Given the description of an element on the screen output the (x, y) to click on. 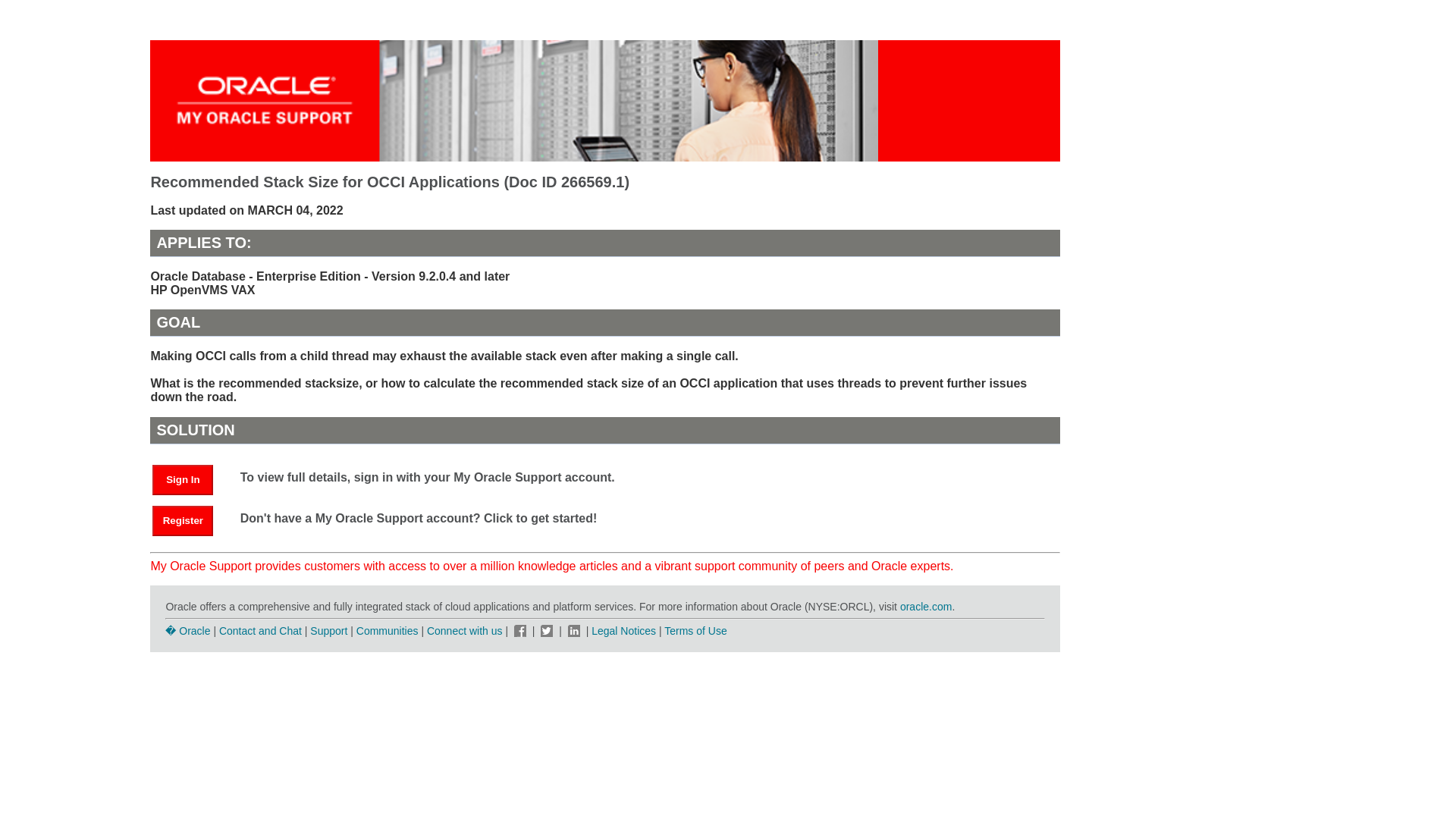
Legal Notices (623, 630)
Sign In (190, 478)
Contact and Chat (260, 630)
Register (190, 519)
Communities (387, 630)
Connect with us (465, 630)
oracle.com (925, 606)
Terms of Use (694, 630)
Support (328, 630)
oracle.com (925, 606)
